Given the description of an element on the screen output the (x, y) to click on. 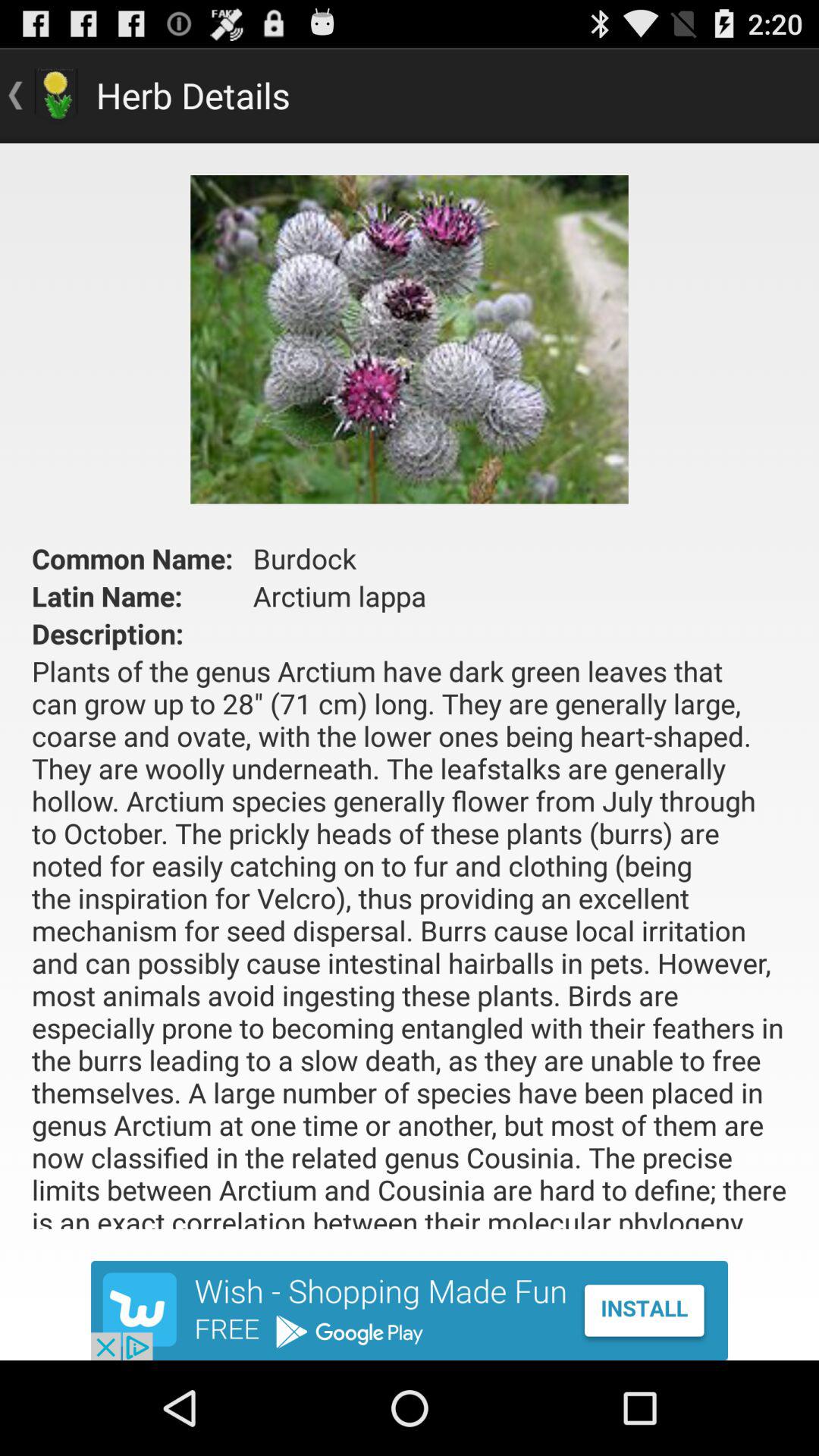
install app (409, 1310)
